Given the description of an element on the screen output the (x, y) to click on. 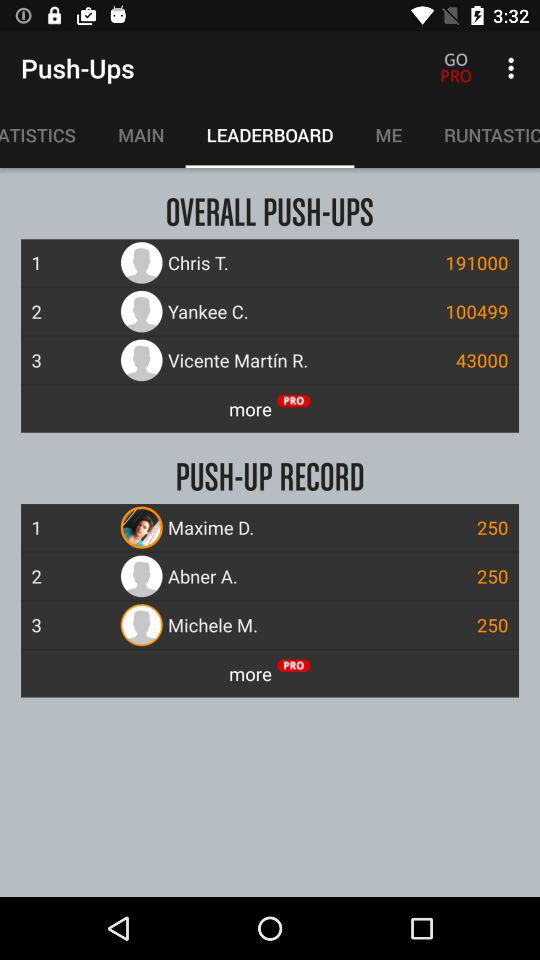
choose the app below push-ups (48, 135)
